Given the description of an element on the screen output the (x, y) to click on. 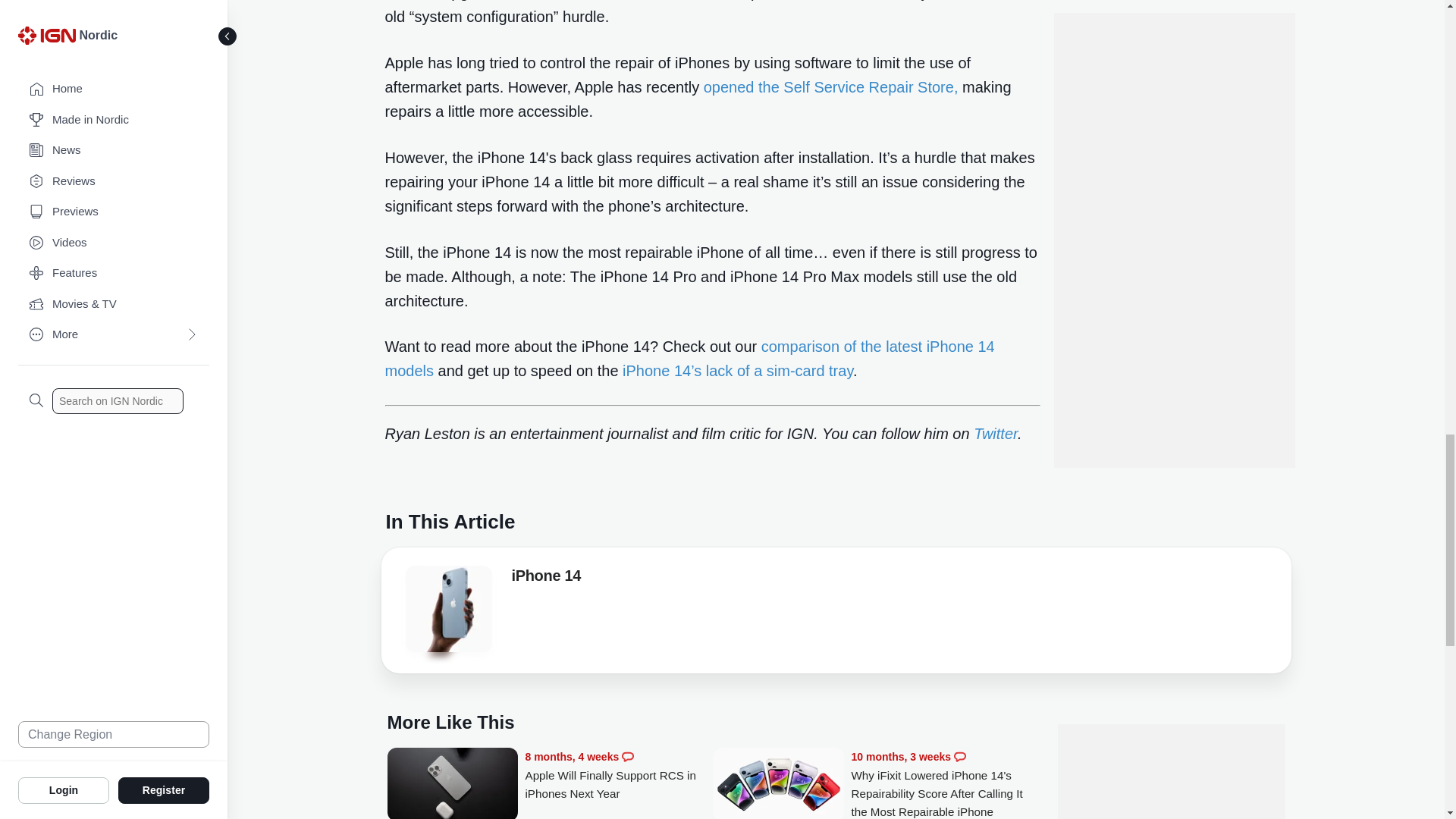
Comments (627, 756)
iPhone 14 (448, 613)
iPhone 14 (448, 608)
iPhone 14 (545, 578)
Apple Will Finally Support RCS in iPhones Next Year (618, 775)
Comments (959, 756)
Apple Will Finally Support RCS in iPhones Next Year (451, 783)
